Given the description of an element on the screen output the (x, y) to click on. 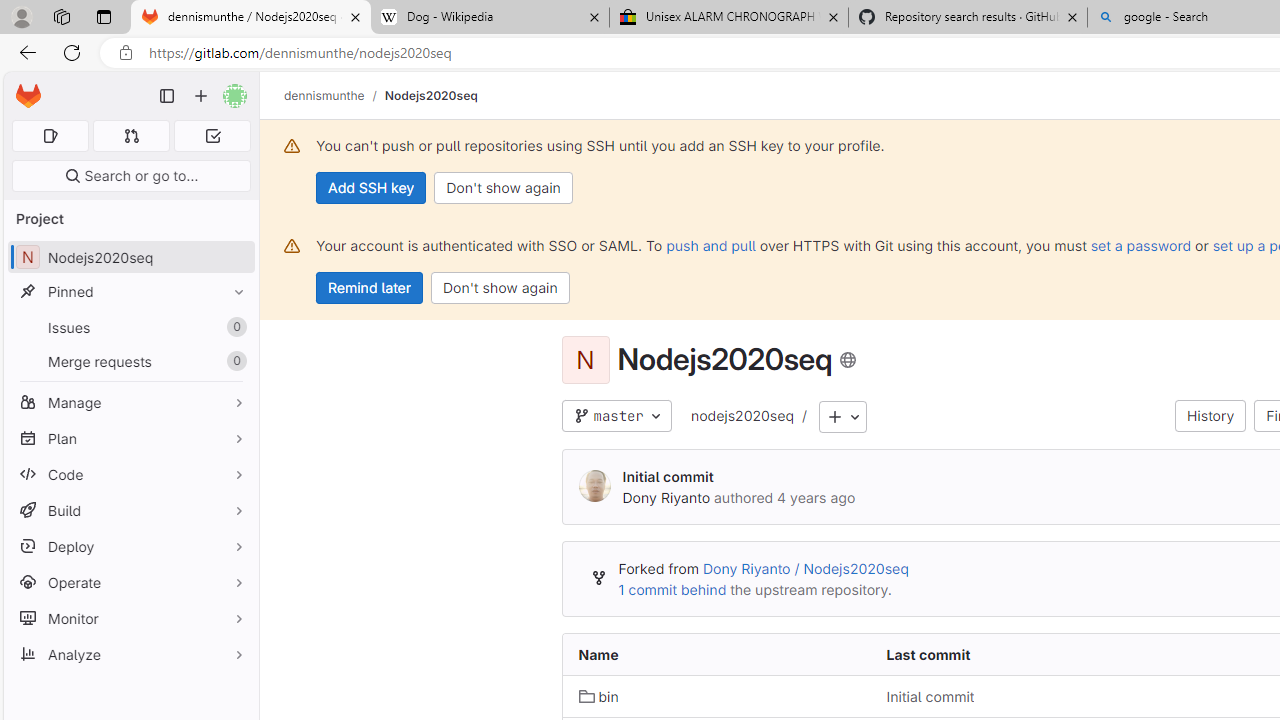
Plan (130, 438)
Nodejs2020seq (430, 95)
History (1209, 416)
Initial commit (930, 696)
bin (598, 696)
Create new... (201, 96)
Dony Riyanto / Nodejs2020seq (804, 569)
Analyze (130, 654)
To-Do list 0 (212, 136)
1 commit behind (672, 590)
Workspaces (61, 16)
Homepage (27, 96)
View site information (125, 53)
Manage (130, 402)
